Given the description of an element on the screen output the (x, y) to click on. 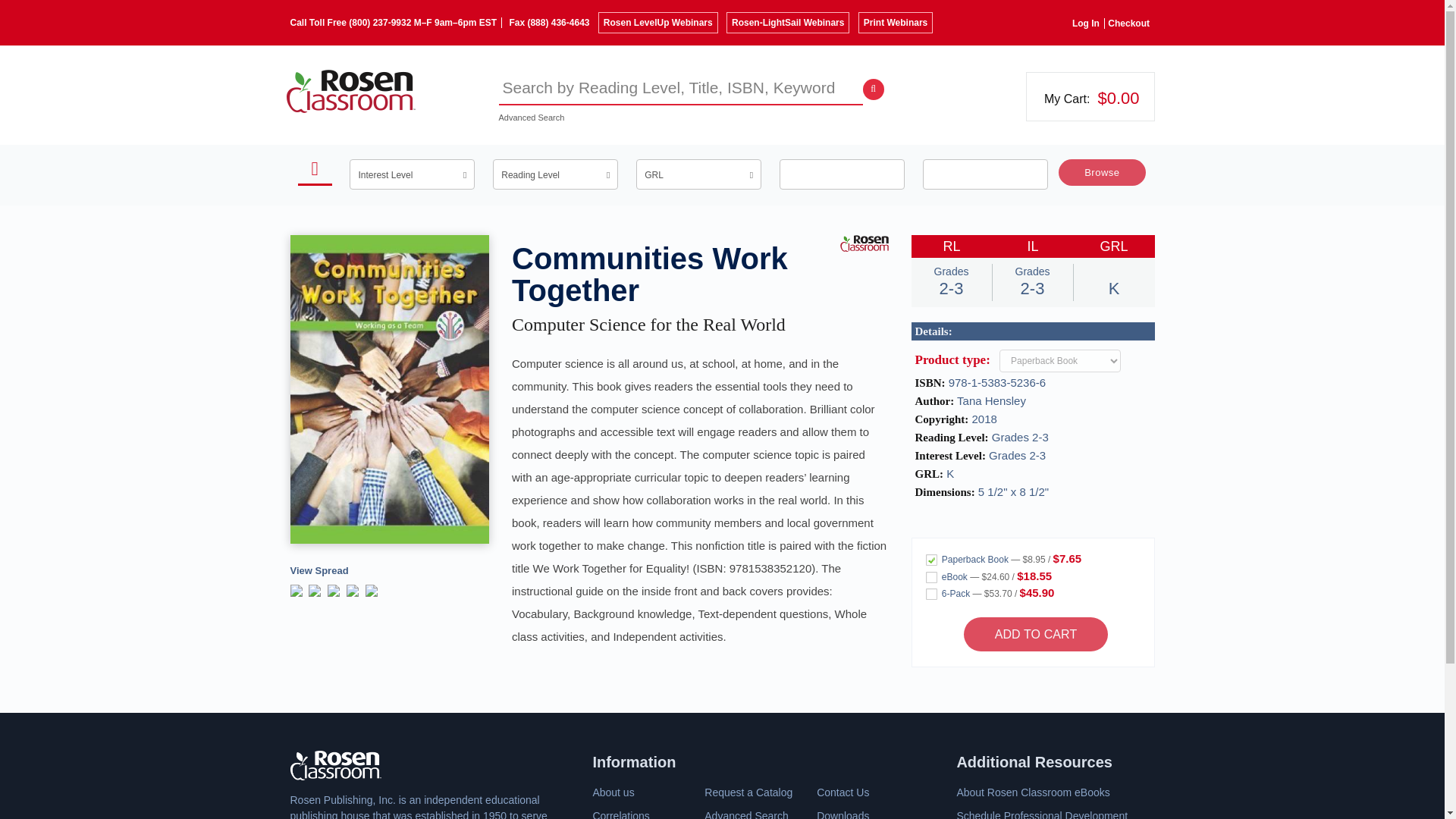
Print Webinars (896, 22)
Rosen-LightSail Webinars (787, 22)
Computer Science for the Real World (649, 324)
Log In (1088, 23)
Browse (1101, 171)
Checkout (1131, 23)
Add to cart (1035, 634)
Advanced Search (531, 117)
Add to cart (1035, 634)
Rosen LevelUp Webinars (657, 22)
